Given the description of an element on the screen output the (x, y) to click on. 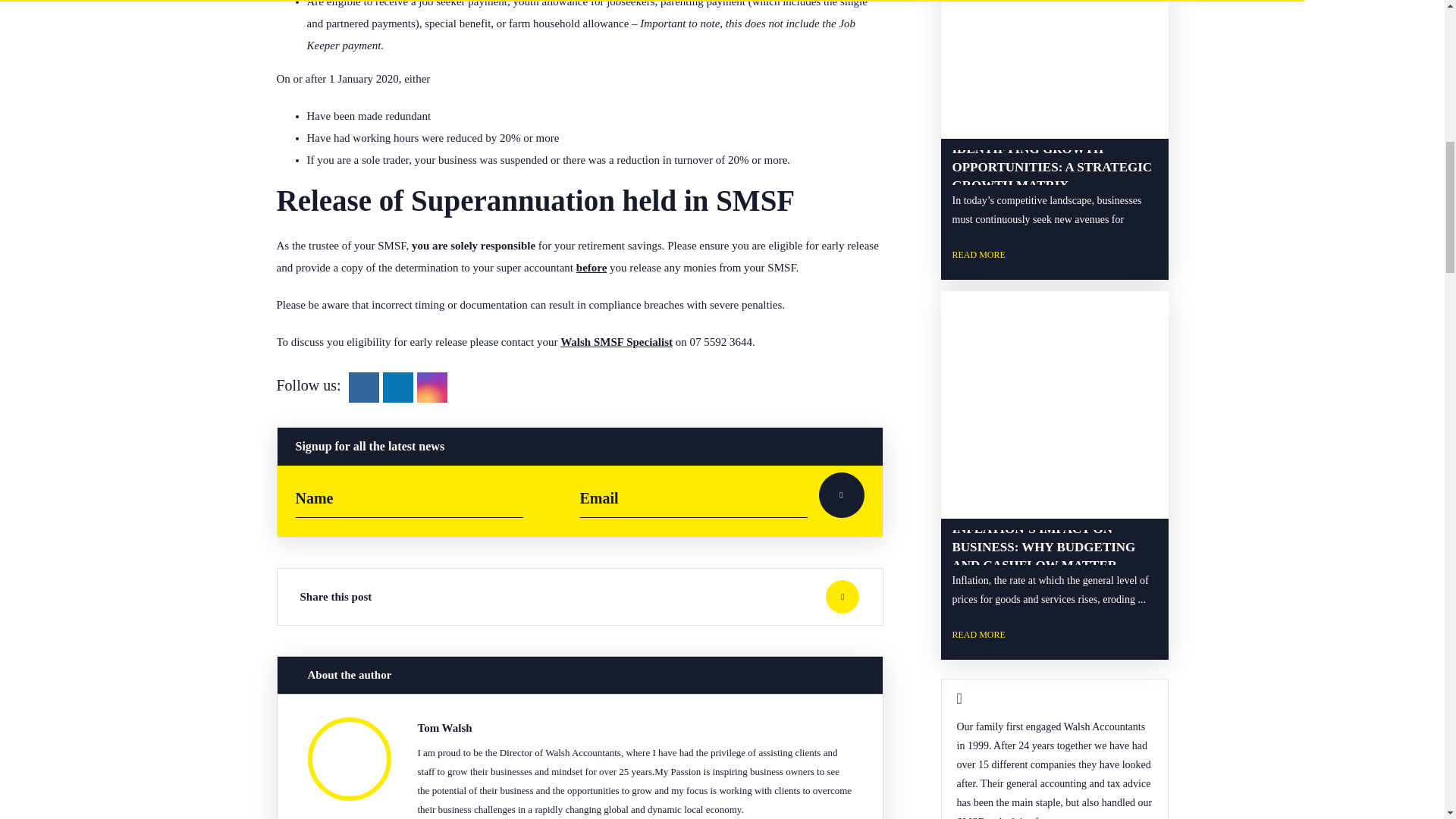
Instagram (432, 387)
LinkedIn (398, 387)
Walsh SMSF Specialist (616, 341)
Facebook (363, 387)
